Given the description of an element on the screen output the (x, y) to click on. 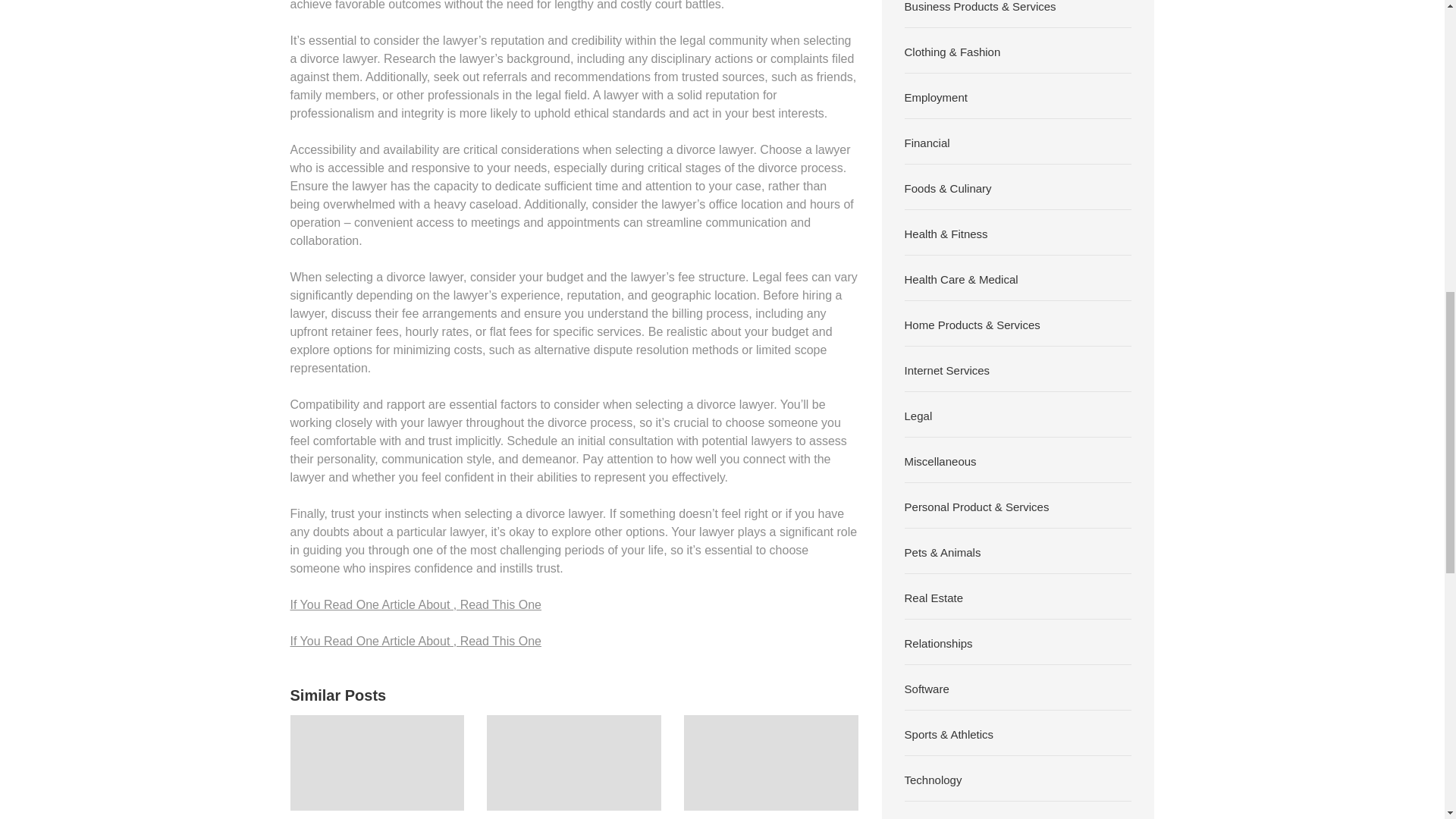
If You Read One Article About , Read This One (414, 640)
If You Read One Article About , Read This One (414, 603)
